Given the description of an element on the screen output the (x, y) to click on. 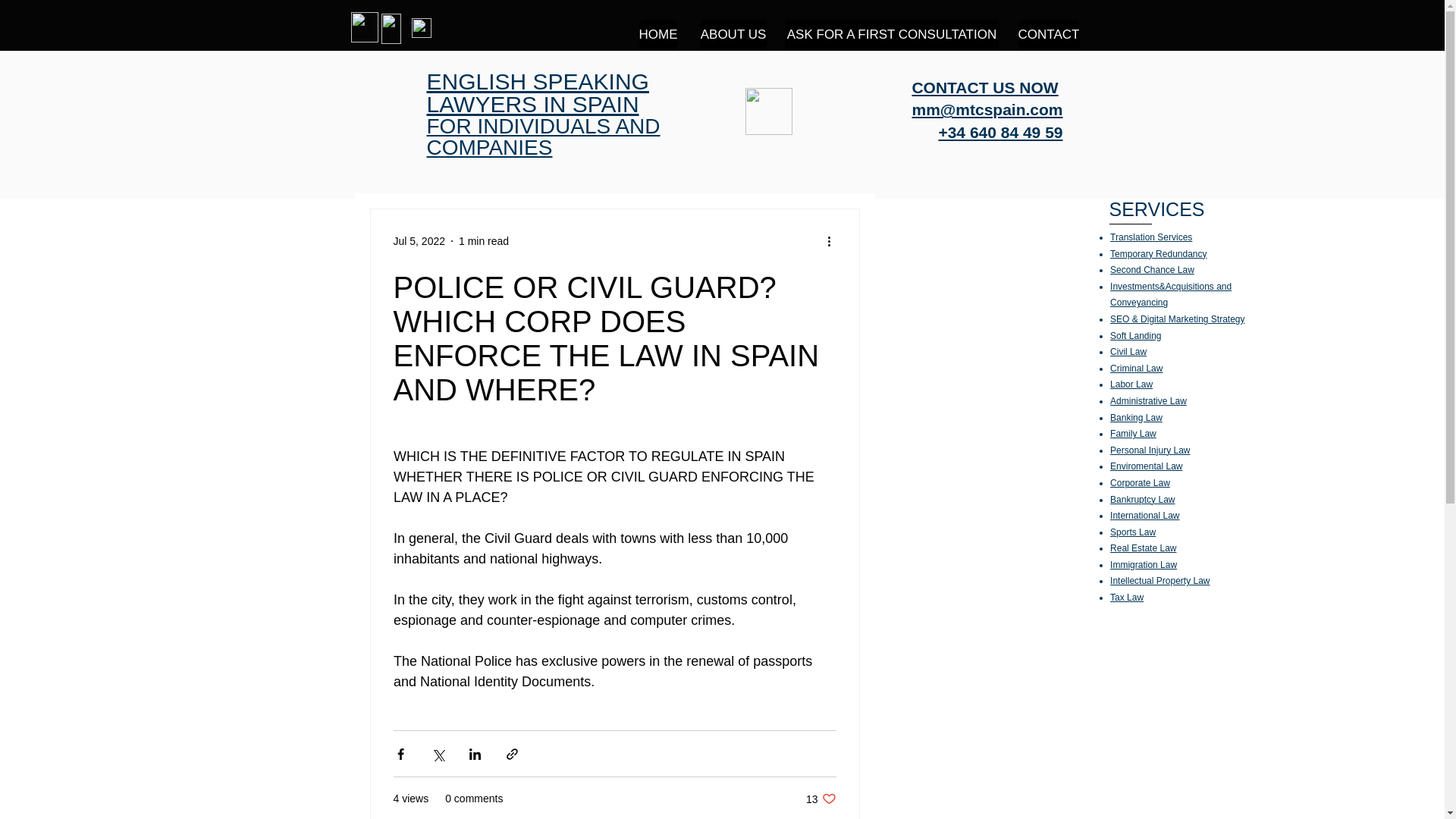
HOME (658, 34)
ABOUT US (732, 34)
Second Chance Law (1151, 269)
Translation Services (1150, 236)
ASK FOR A FIRST CONSULTATION (891, 34)
FOR INDIVIDUALS AND (542, 126)
Jul 5, 2022 (419, 241)
Temporary Redundancy (1158, 253)
CONTACT US NOW (984, 87)
LAWYERS IN SPAIN (532, 104)
BLOG (768, 111)
CONTACT (1047, 34)
1 min read (483, 241)
COMPANIES (488, 146)
